Given the description of an element on the screen output the (x, y) to click on. 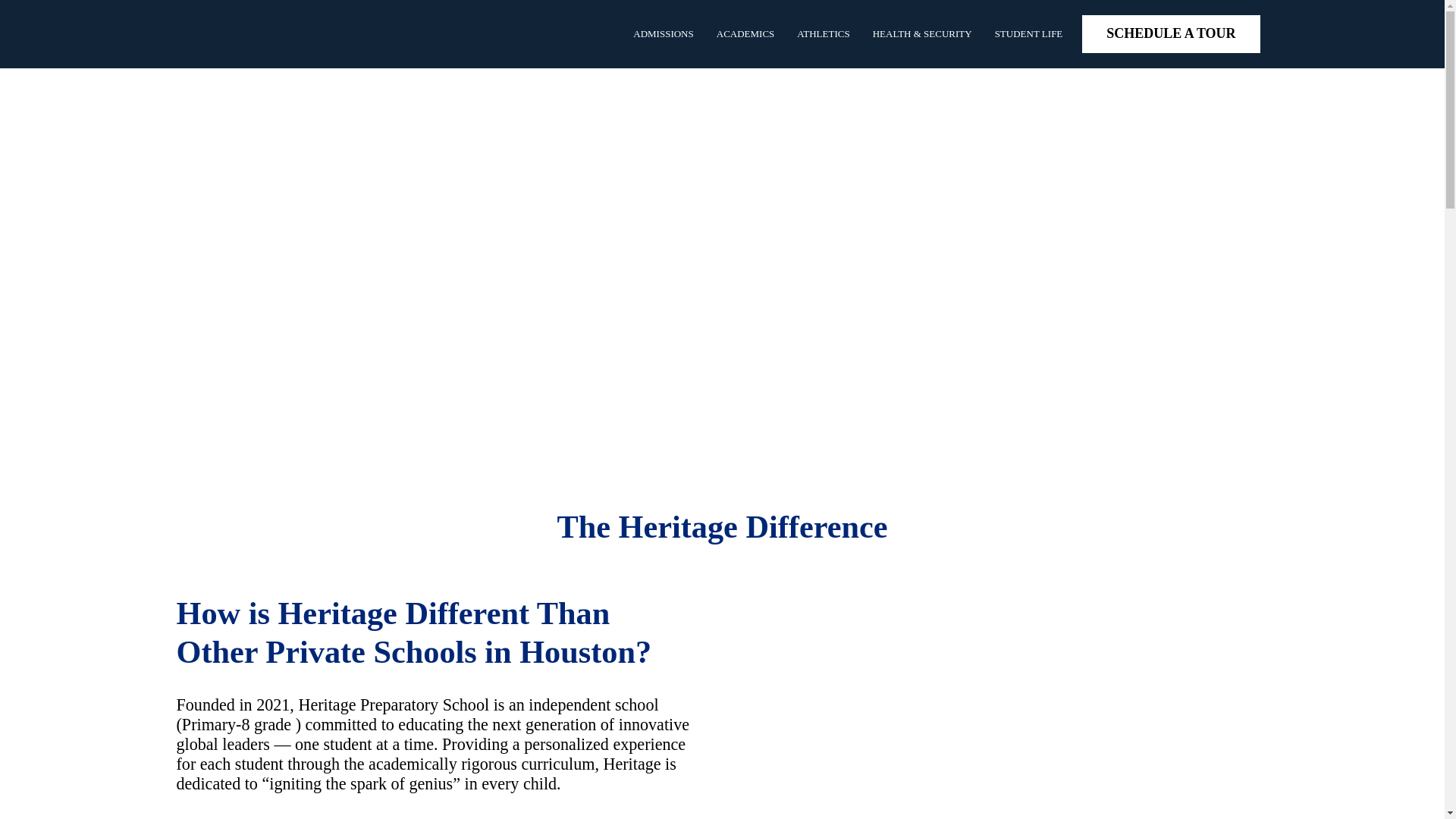
ACADEMICS (745, 33)
STUDENT LIFE (1029, 33)
ADMISSIONS (662, 33)
ATHLETICS (823, 33)
